Given the description of an element on the screen output the (x, y) to click on. 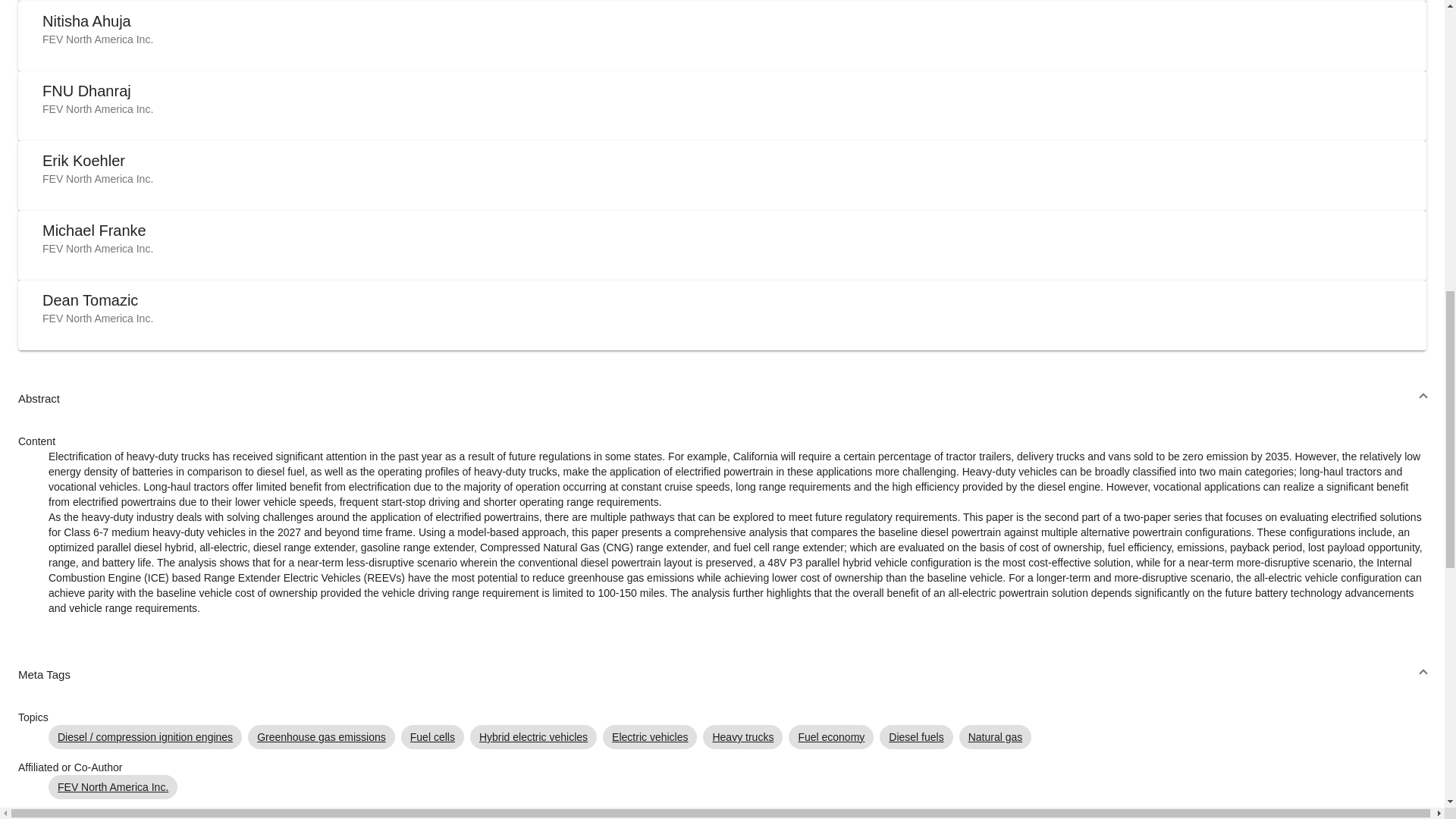
Erik Koehler (83, 160)
Nitisha Ahuja (86, 21)
FEV North America Inc. (97, 248)
FEV North America Inc. (97, 109)
FNU Dhanraj (86, 90)
Michael Franke (94, 230)
FEV North America Inc. (97, 39)
FEV North America Inc. (97, 178)
